Given the description of an element on the screen output the (x, y) to click on. 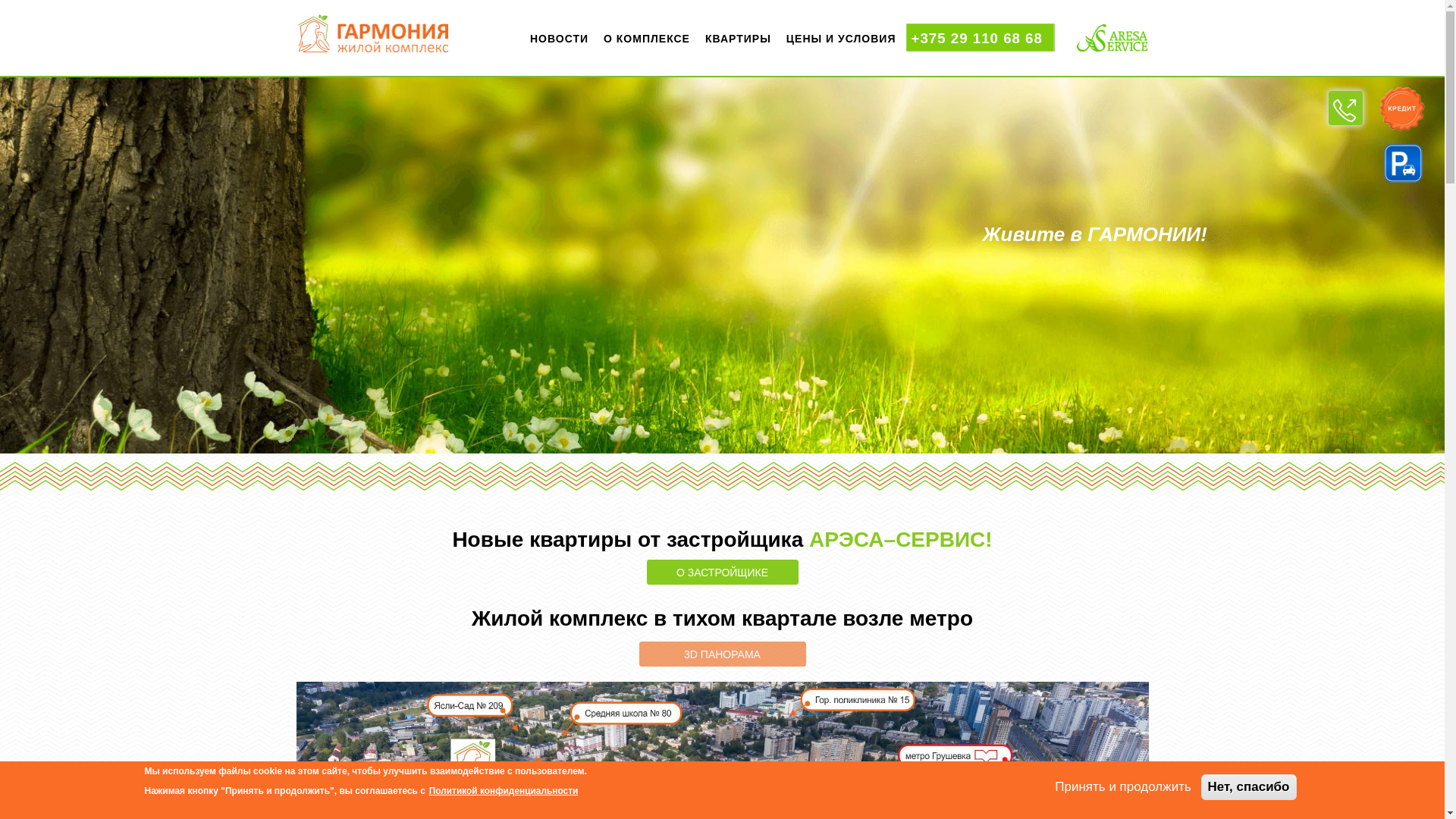
Request a call Element type: hover (1345, 108)
+375 29 110 68 68 Element type: text (985, 37)
